Given the description of an element on the screen output the (x, y) to click on. 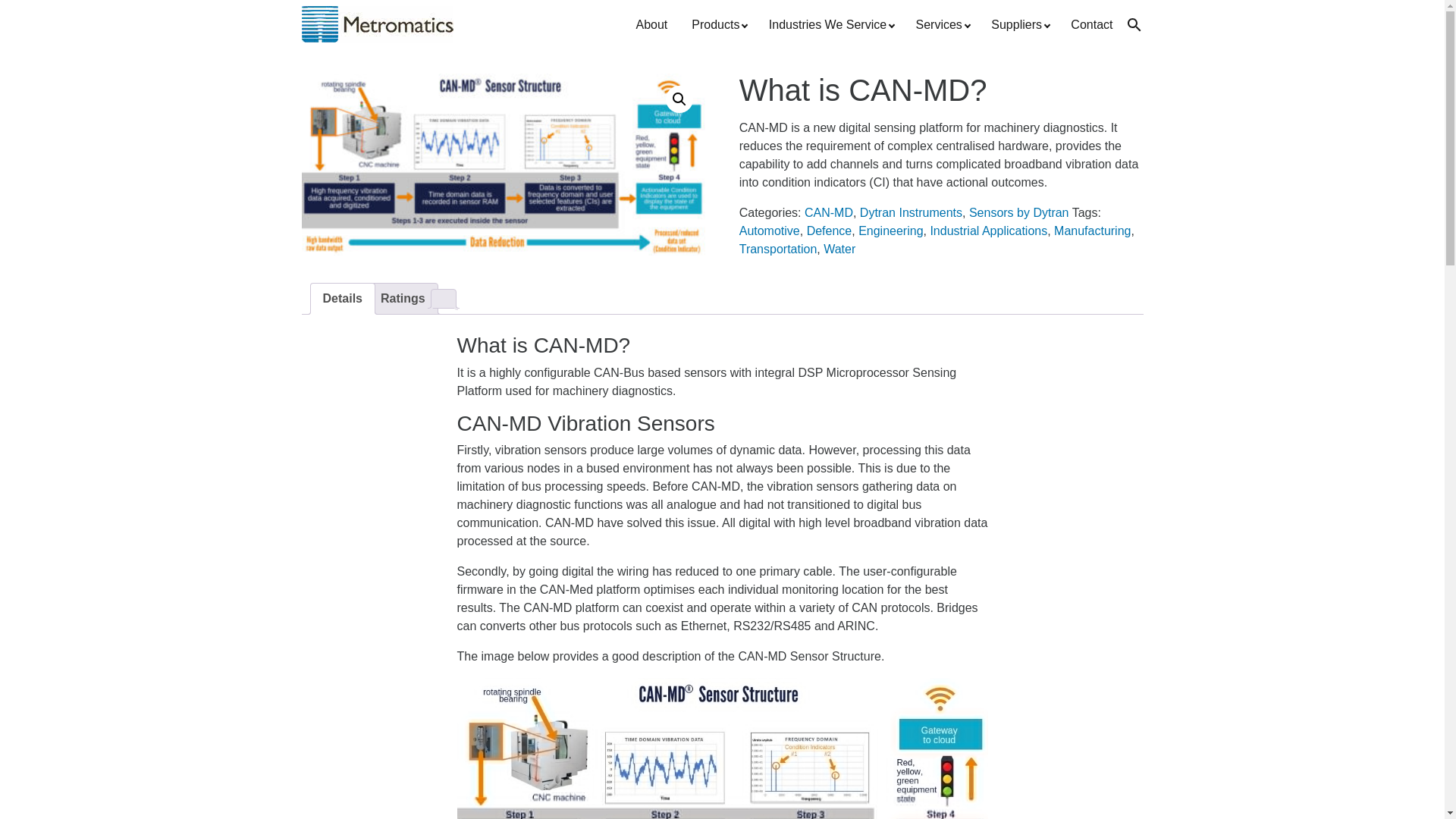
Products (718, 24)
Services (941, 24)
Industries We Service (830, 24)
Suppliers (1018, 24)
About (651, 24)
What is CAN MD image 1 (503, 164)
